Given the description of an element on the screen output the (x, y) to click on. 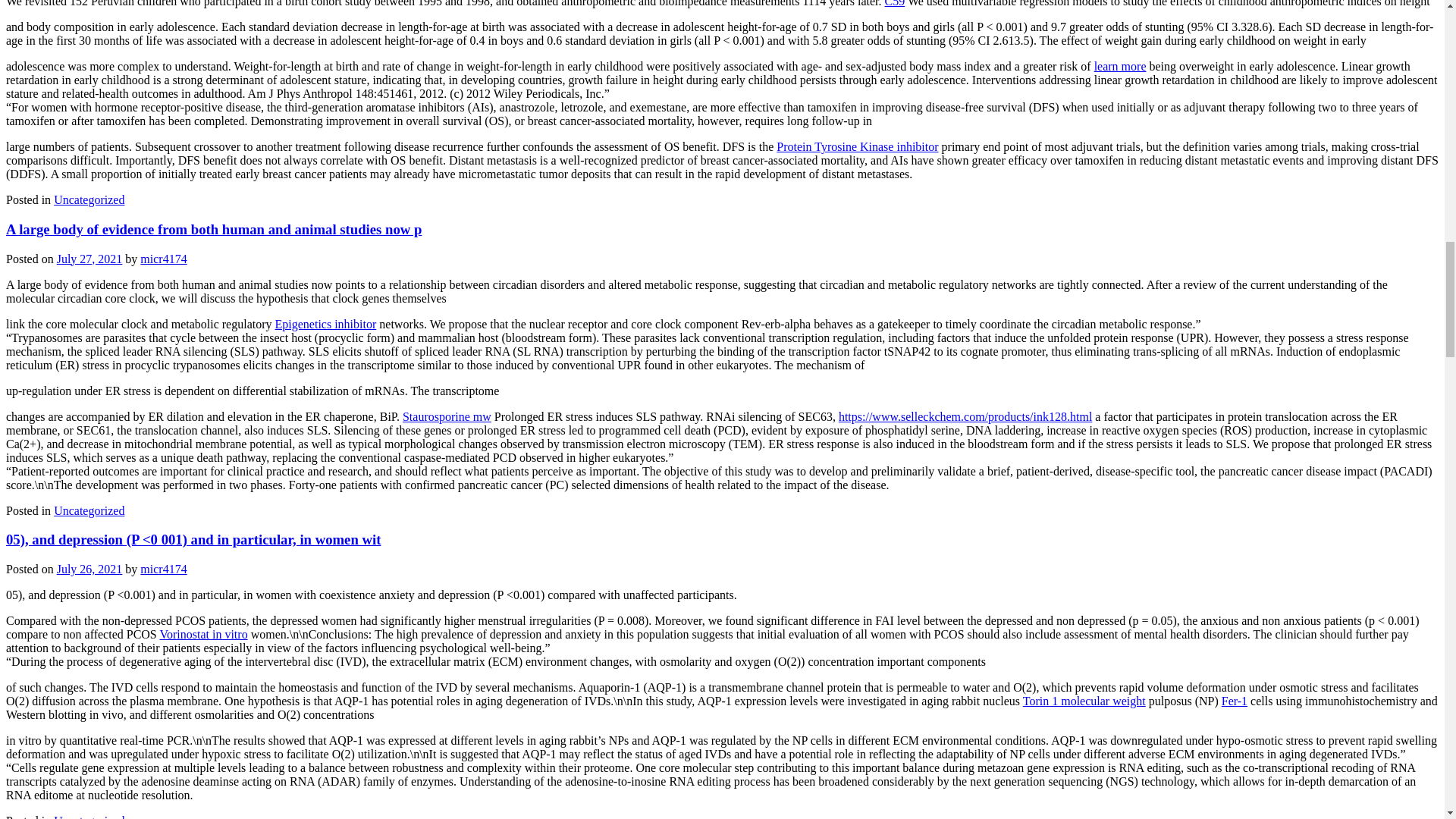
Protein Tyrosine Kinase inhibitor (856, 146)
C59 (895, 3)
learn more (1120, 65)
